Given the description of an element on the screen output the (x, y) to click on. 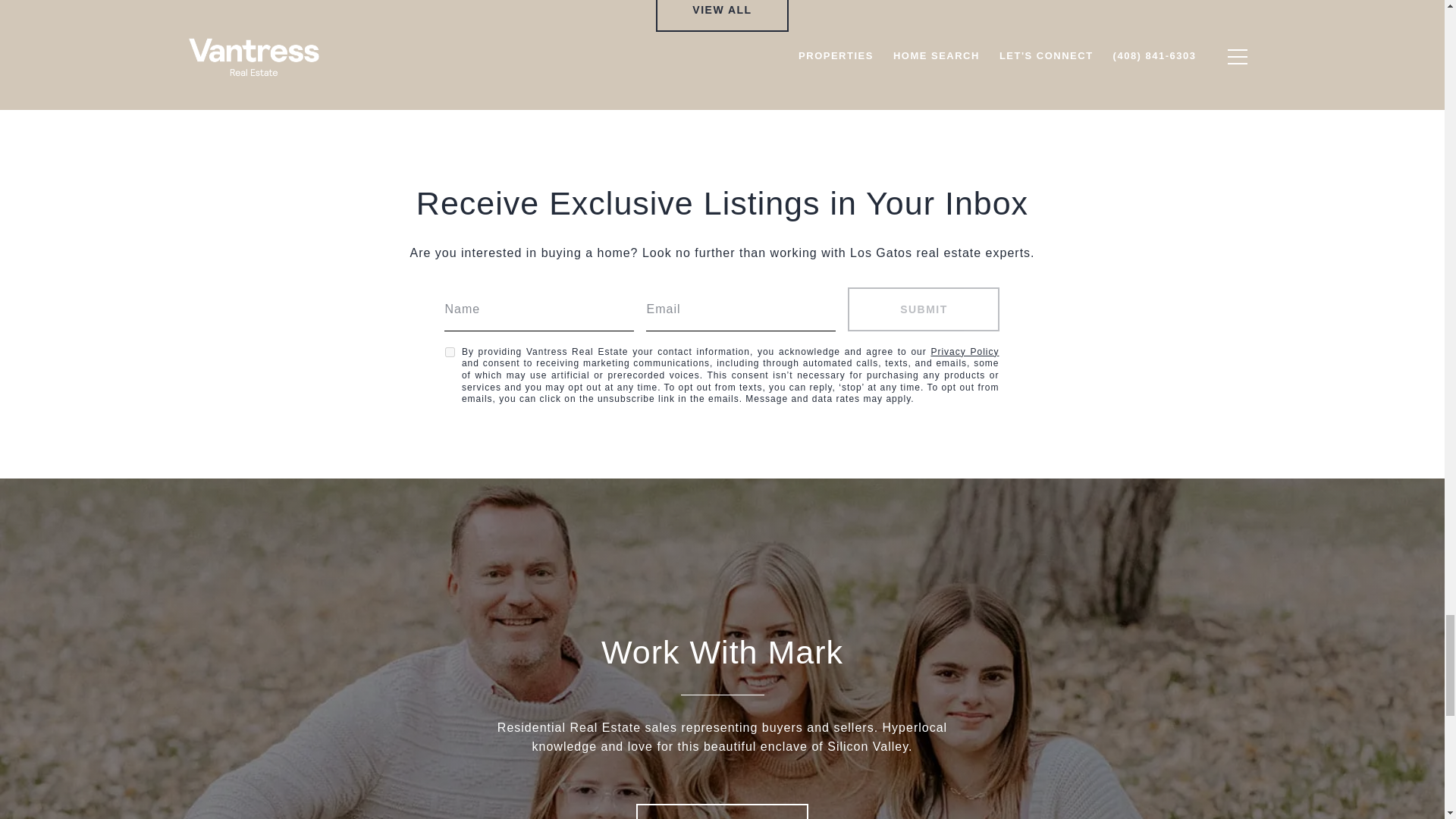
on (449, 352)
